Given the description of an element on the screen output the (x, y) to click on. 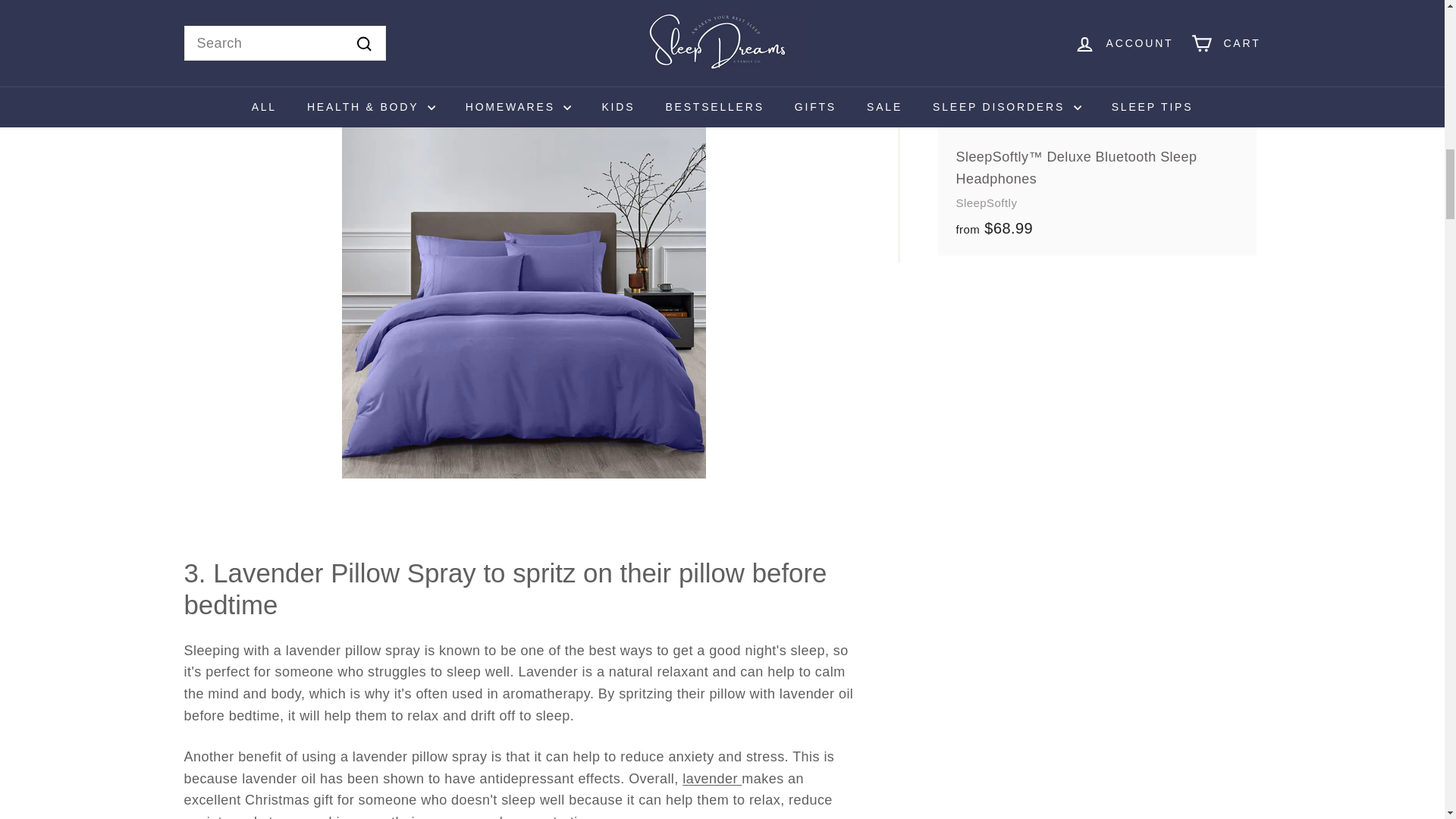
satin pillowcases (305, 2)
